Given the description of an element on the screen output the (x, y) to click on. 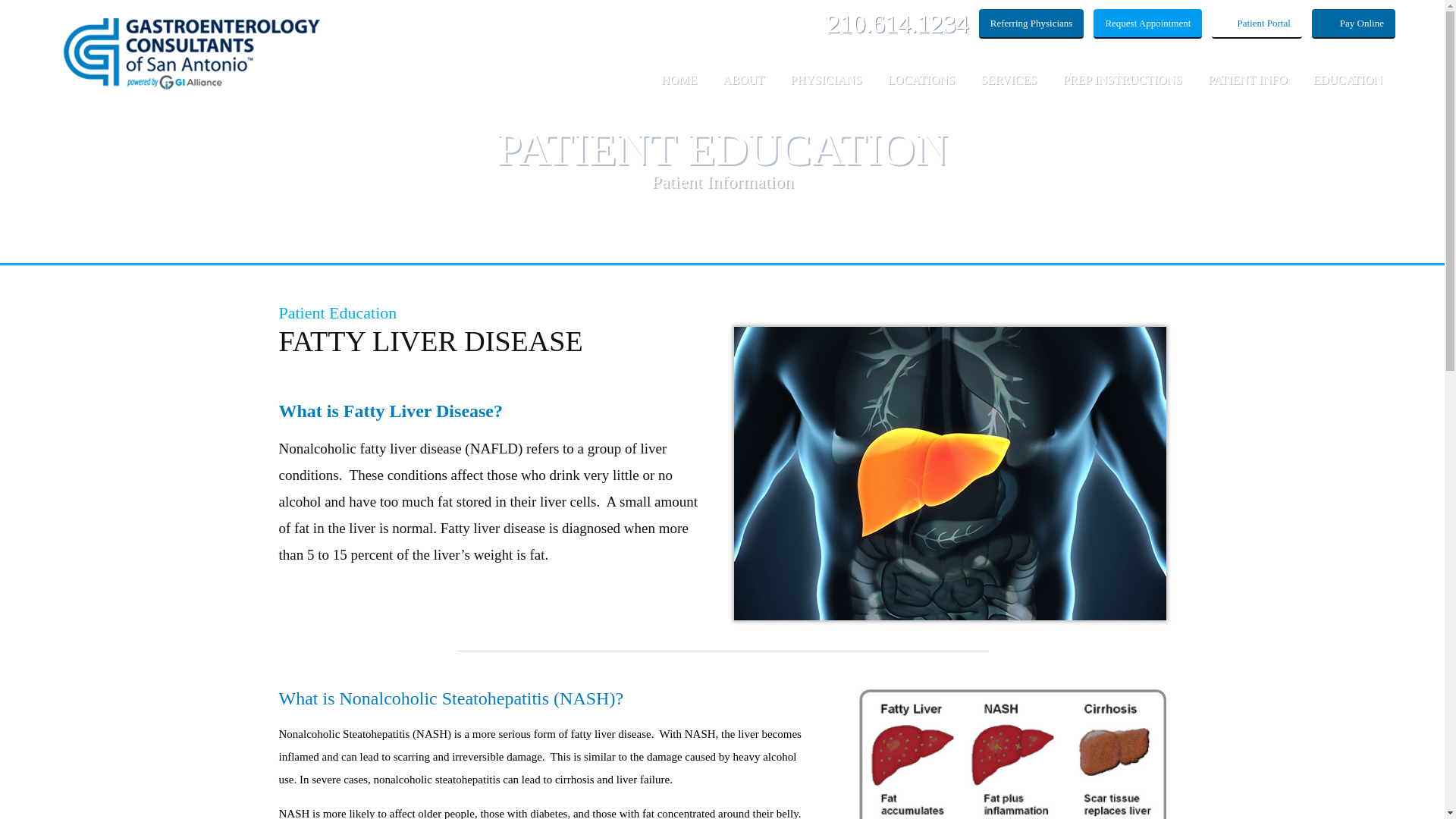
Request Appointment (1147, 23)
HOME (678, 88)
LOCATIONS (921, 88)
Pay Online (1352, 23)
SERVICES (1008, 88)
Patient Portal (1256, 23)
Referring Physicians (1031, 23)
PHYSICIANS (826, 88)
ABOUT (743, 88)
210.614.1234 (898, 23)
